Given the description of an element on the screen output the (x, y) to click on. 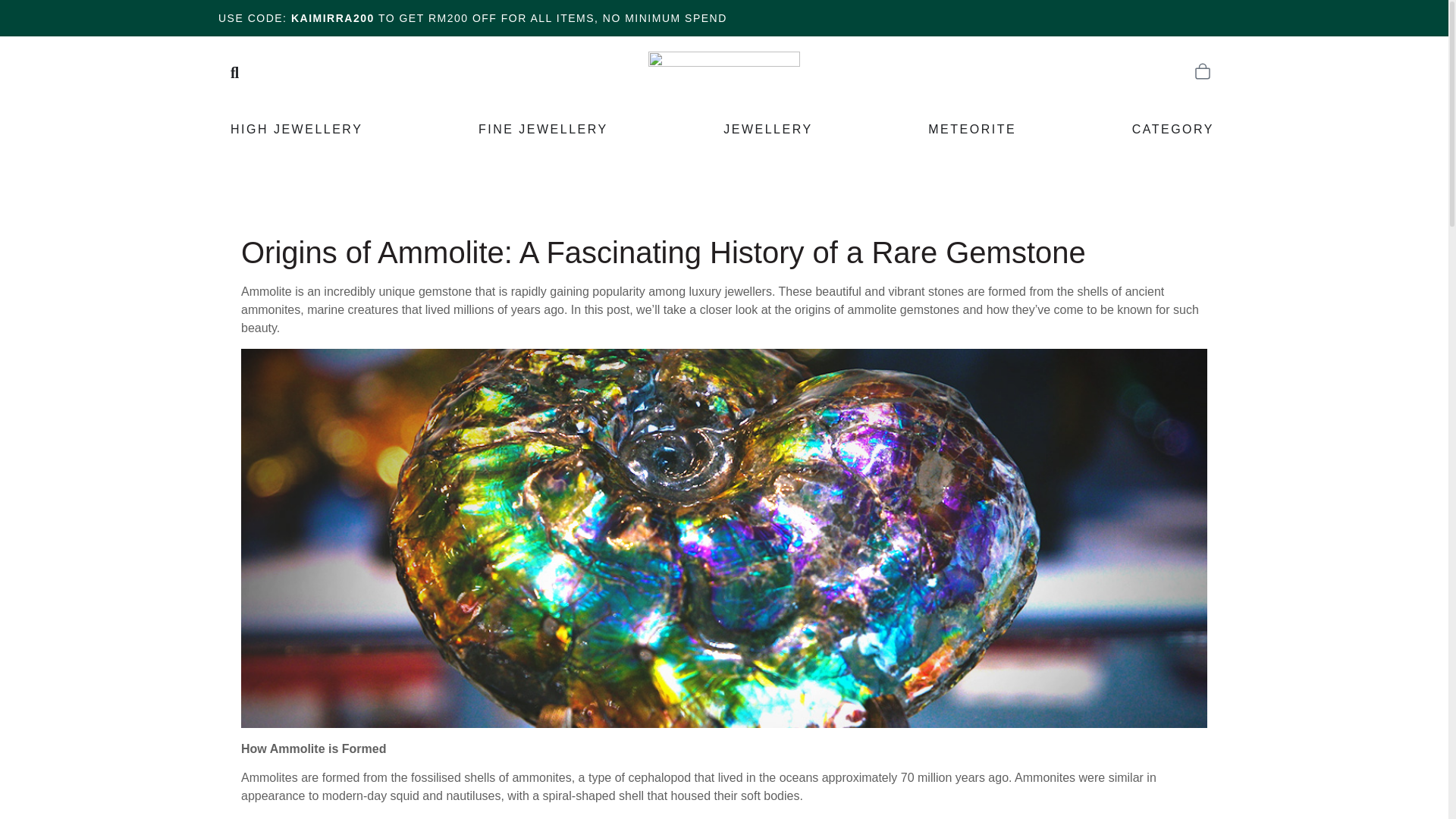
FINE JEWELLERY (543, 130)
JEWELLERY (767, 130)
HIGH JEWELLERY (296, 130)
Bag (1202, 71)
Bag (1202, 72)
